Given the description of an element on the screen output the (x, y) to click on. 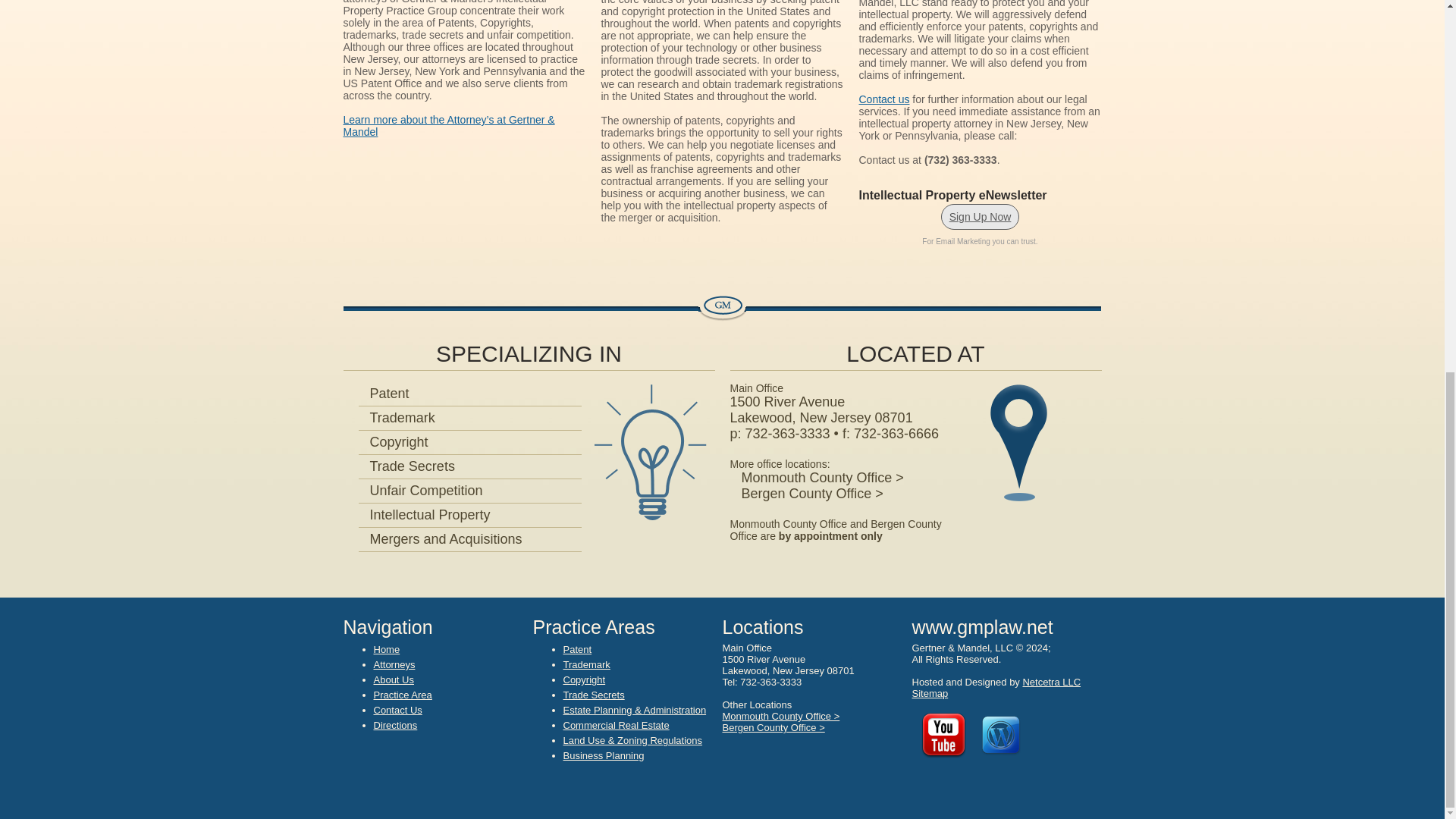
Contact Us (397, 709)
About Us (392, 679)
Contact us (883, 99)
Sitemap (929, 693)
Business Planning (602, 755)
Patent (576, 649)
Copyright (393, 441)
Attorneys (393, 664)
Directions (394, 725)
Trademark (586, 664)
